Given the description of an element on the screen output the (x, y) to click on. 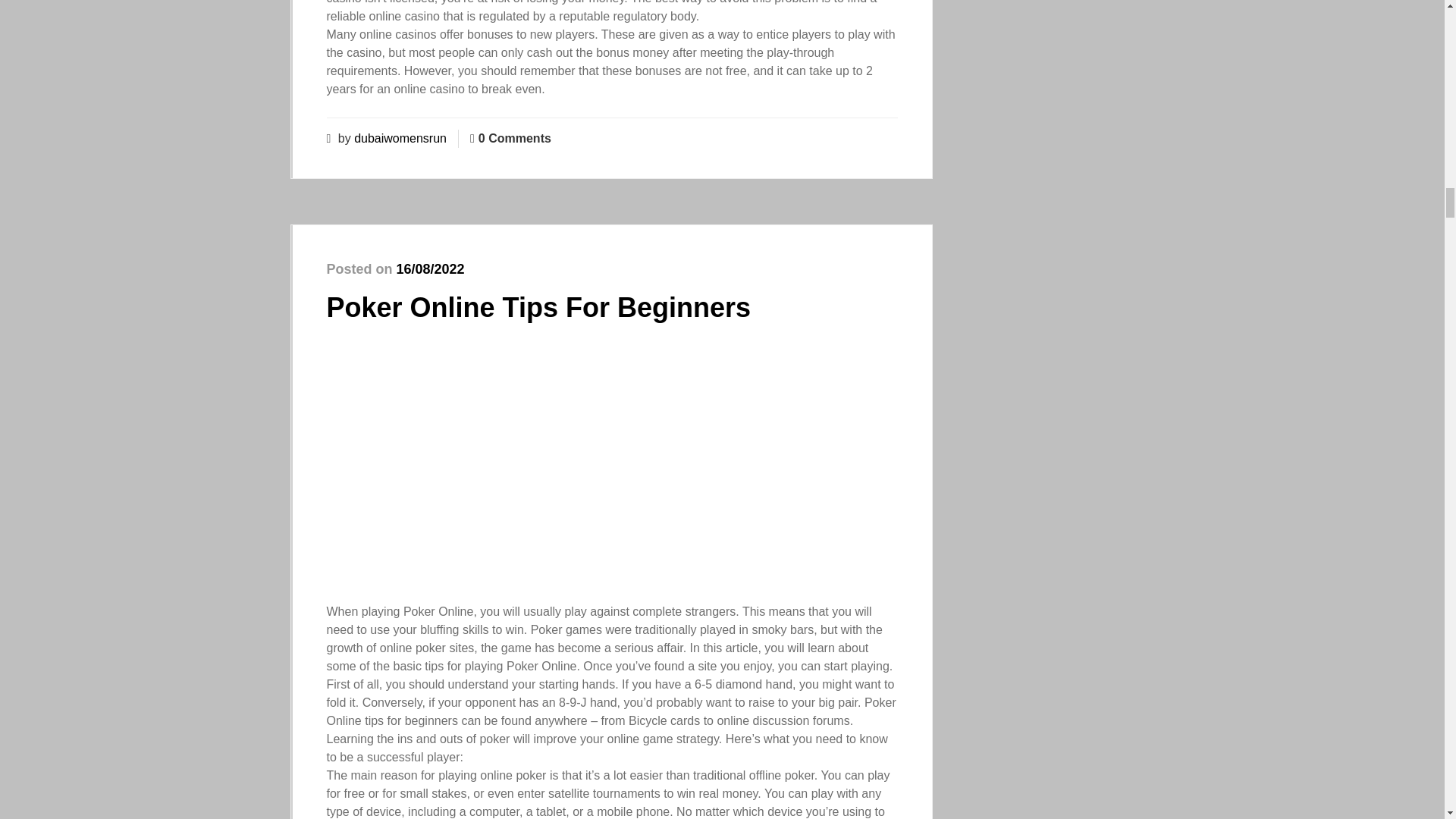
dubaiwomensrun (399, 137)
Poker Online Tips For Beginners (537, 306)
